Given the description of an element on the screen output the (x, y) to click on. 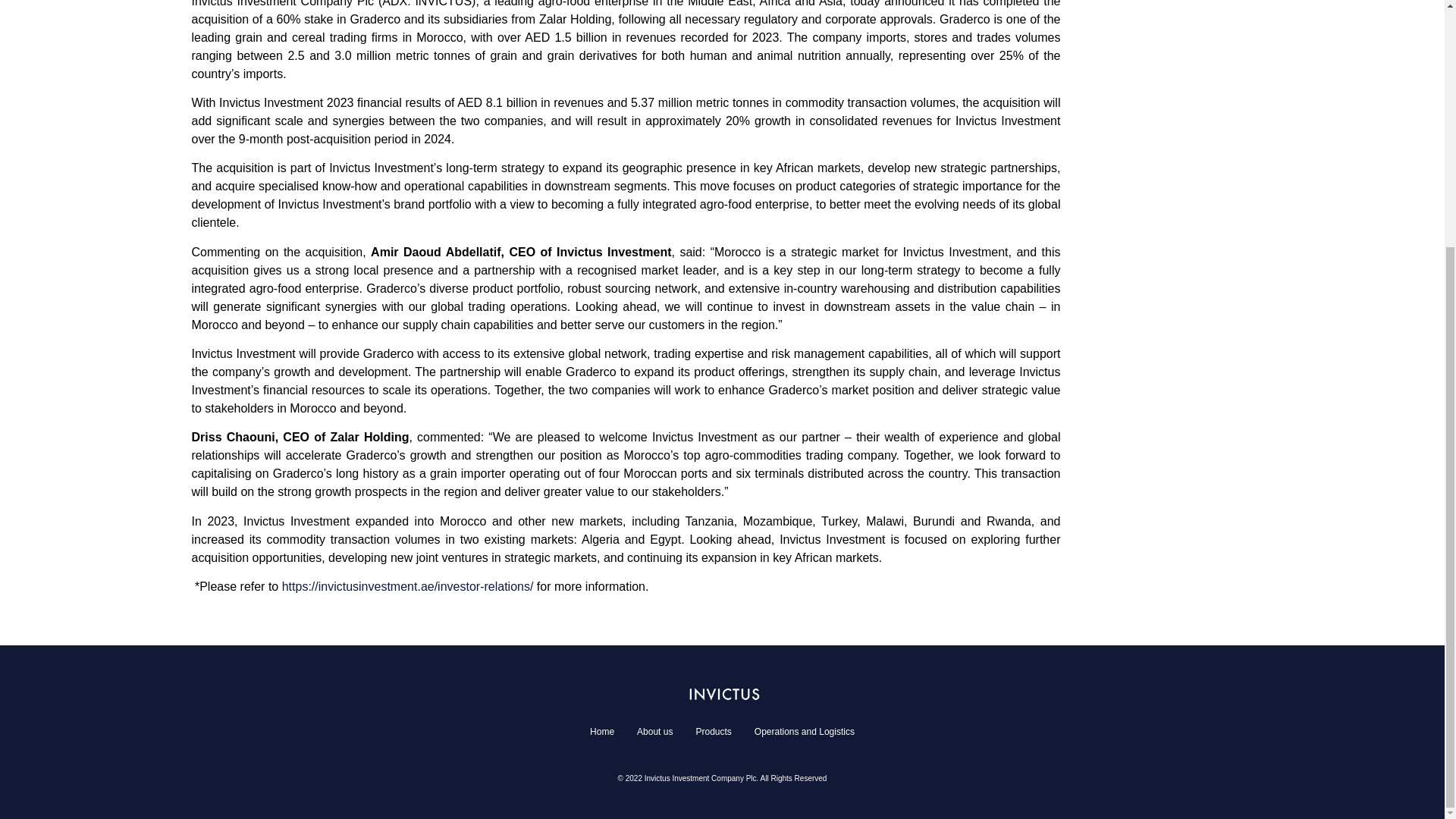
Products (713, 731)
About us (655, 731)
Operations and Logistics (804, 731)
Home (602, 731)
